Given the description of an element on the screen output the (x, y) to click on. 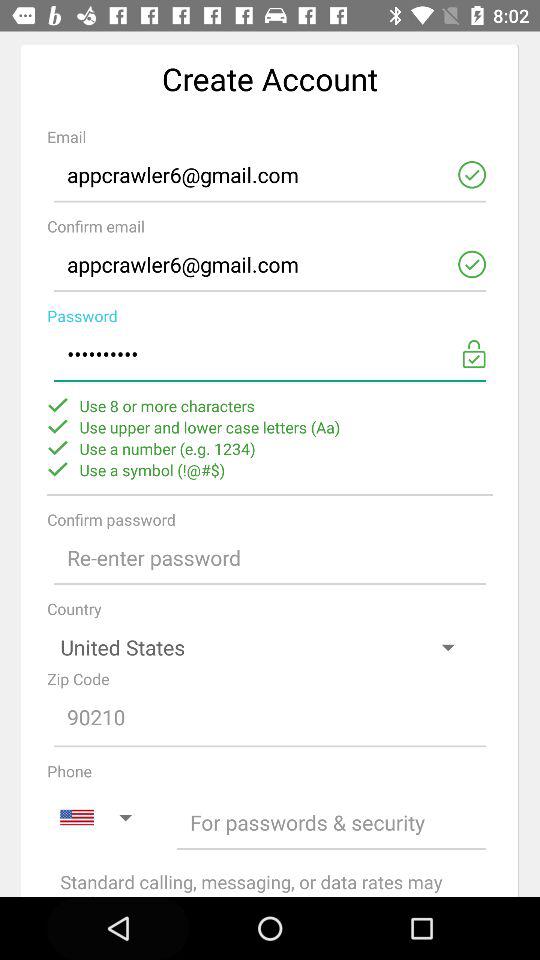
field to re-enter password (270, 557)
